Given the description of an element on the screen output the (x, y) to click on. 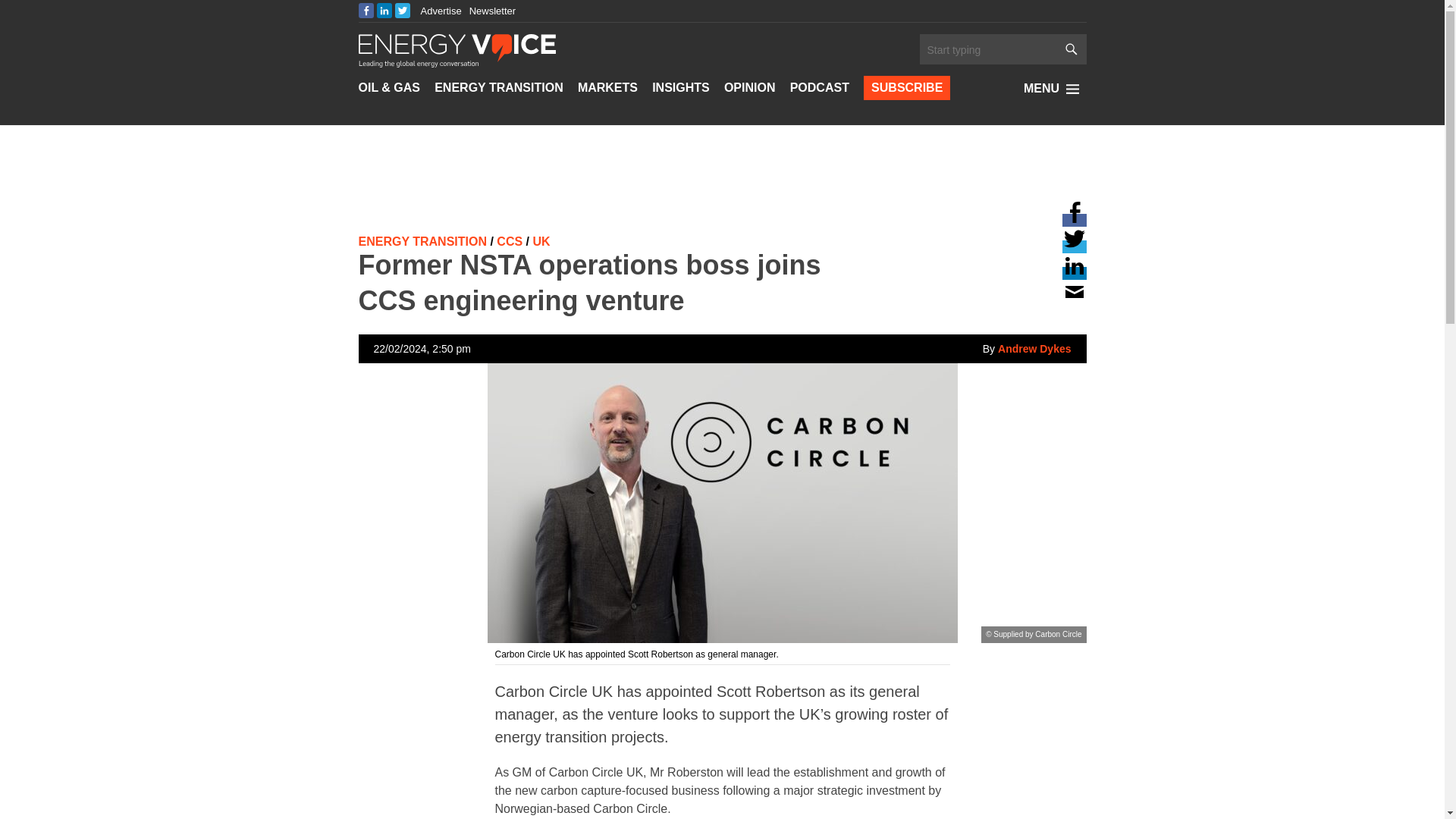
Facebook (365, 10)
Linkedin (1073, 273)
Email (862, 31)
Advertise (440, 11)
Twitter (1073, 246)
ENERGY TRANSITION (498, 87)
Linkedin (862, 5)
MARKETS (607, 87)
MENU (1054, 87)
Facebook (1073, 219)
Energy Voice (456, 49)
Andrew Dykes (1026, 348)
Email (1073, 299)
Search (987, 50)
Newsletter (491, 11)
